Given the description of an element on the screen output the (x, y) to click on. 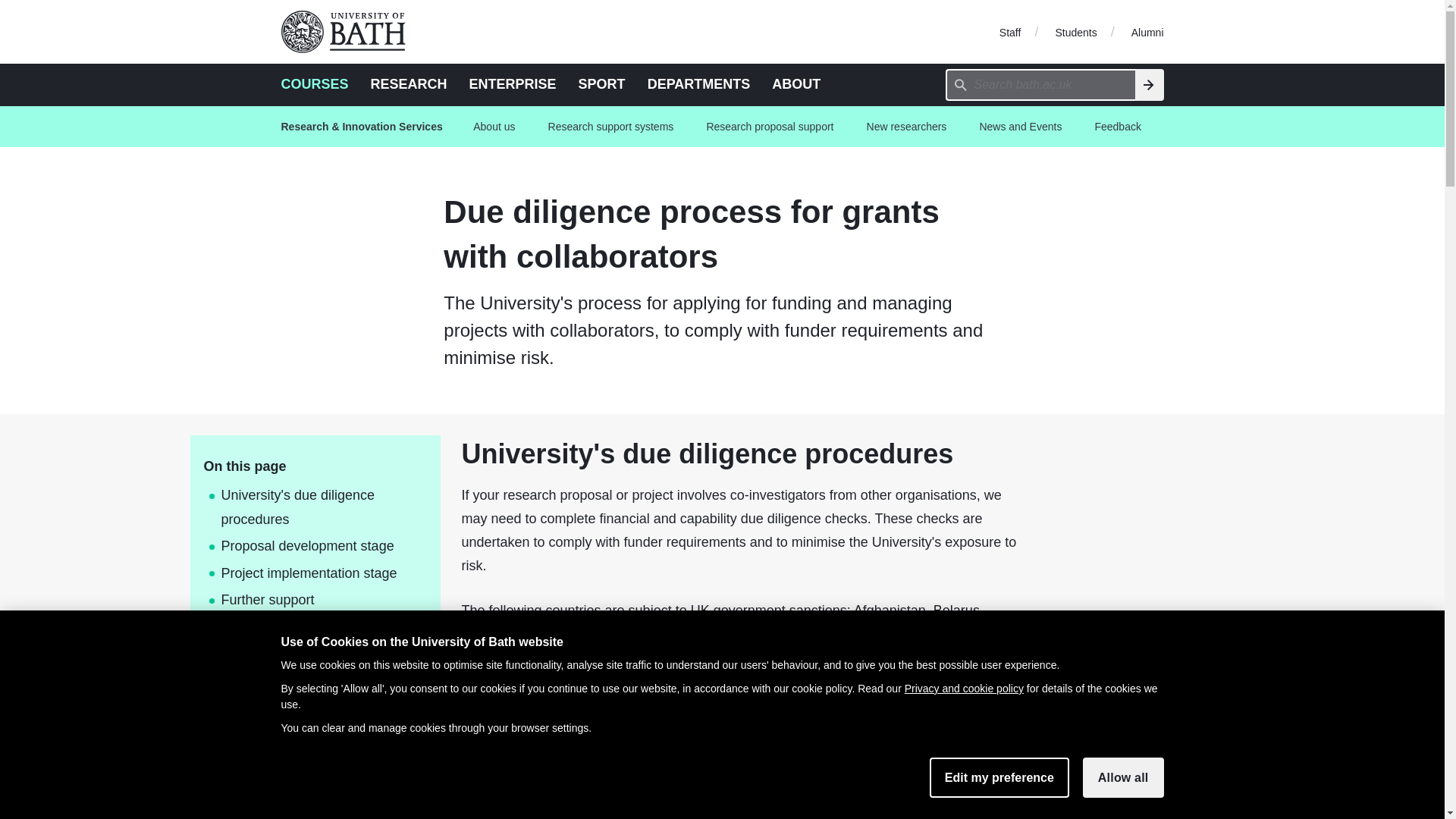
Students (1075, 31)
Research support systems (610, 126)
Alumni (1147, 31)
Type search term here (1039, 84)
Staff (1010, 31)
About us (494, 126)
University of Bath (348, 31)
ENTERPRISE (512, 83)
COURSES (314, 83)
SPORT (602, 83)
Edit my preference (999, 777)
Allow all (1123, 777)
Privacy and cookie policy (963, 688)
ABOUT (796, 83)
RESEARCH (408, 83)
